Given the description of an element on the screen output the (x, y) to click on. 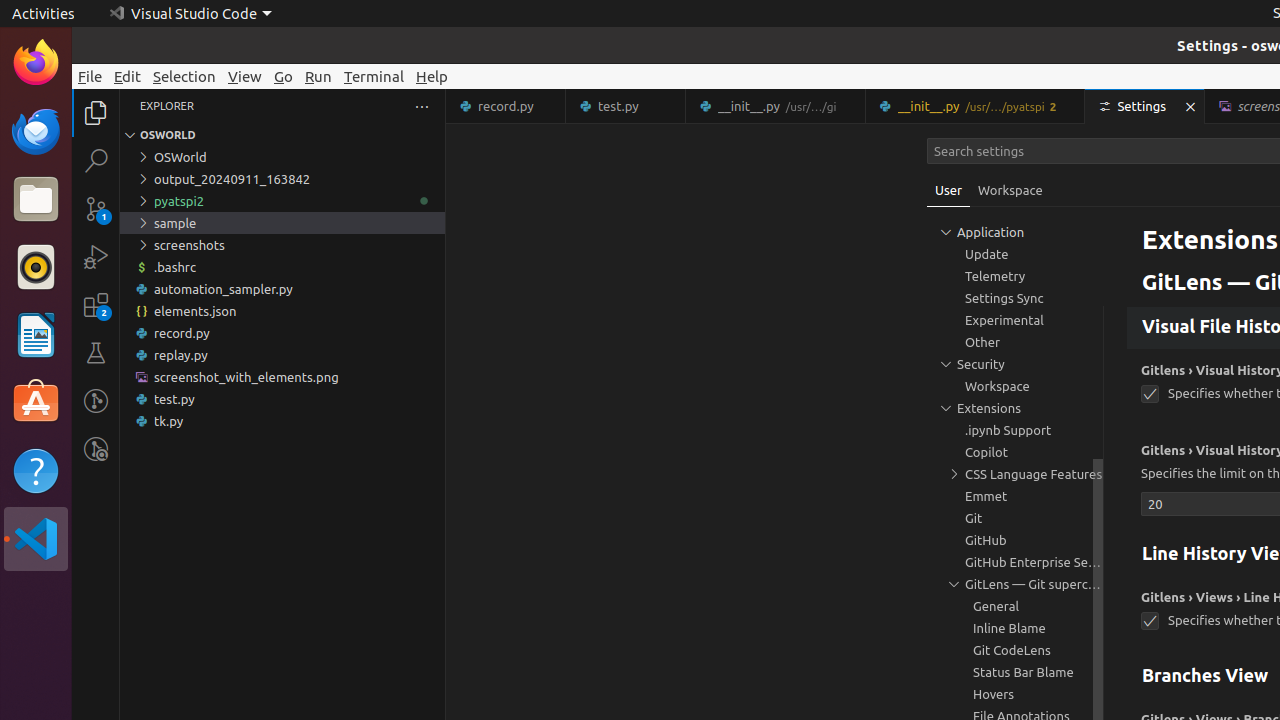
Extensions (Ctrl+Shift+X) - 2 require restart Extensions (Ctrl+Shift+X) - 2 require restart Element type: page-tab (96, 305)
Selection Element type: push-button (184, 76)
